Given the description of an element on the screen output the (x, y) to click on. 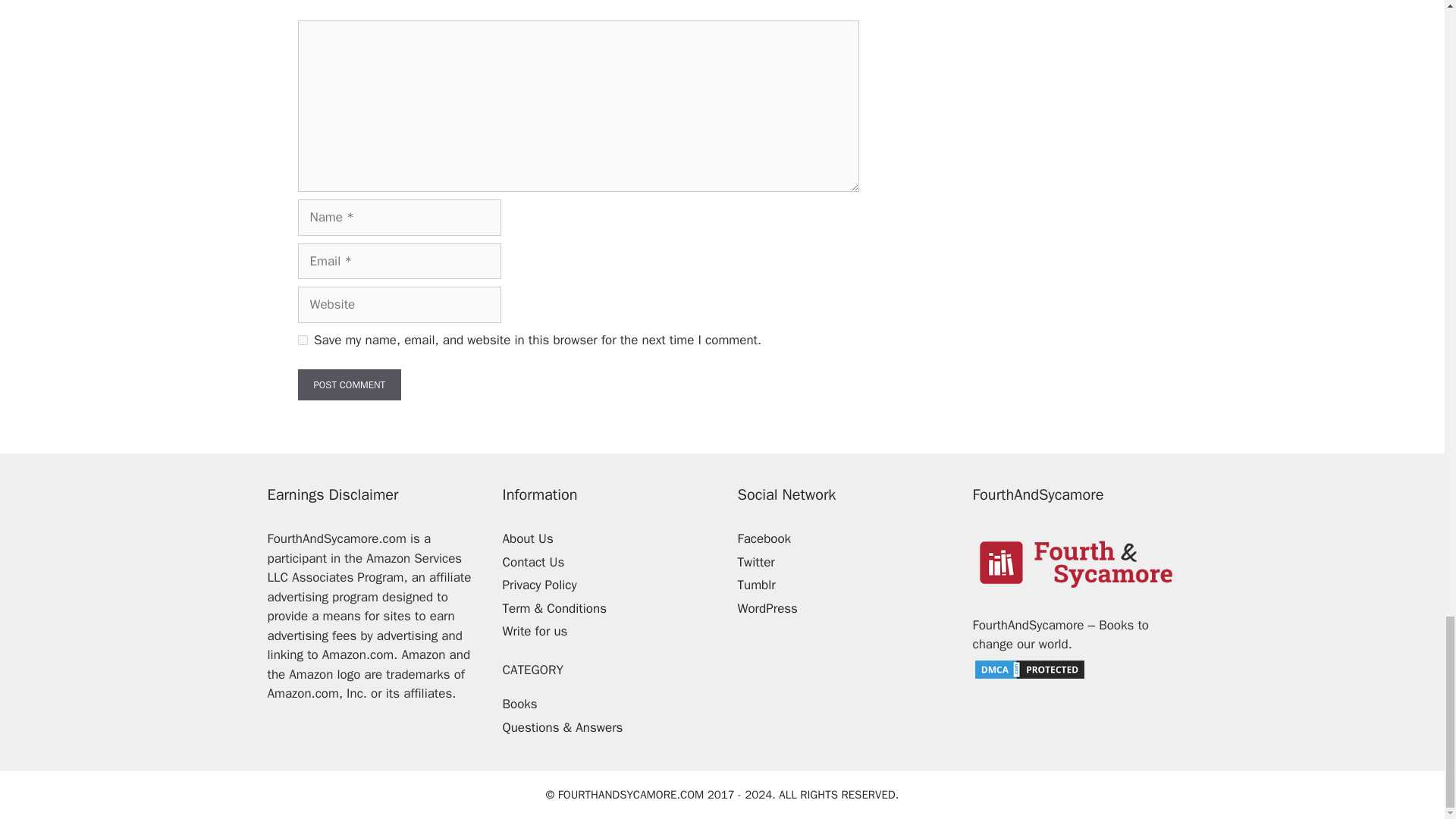
DMCA.com Protection Status (1029, 676)
yes (302, 339)
Post Comment (349, 385)
